Given the description of an element on the screen output the (x, y) to click on. 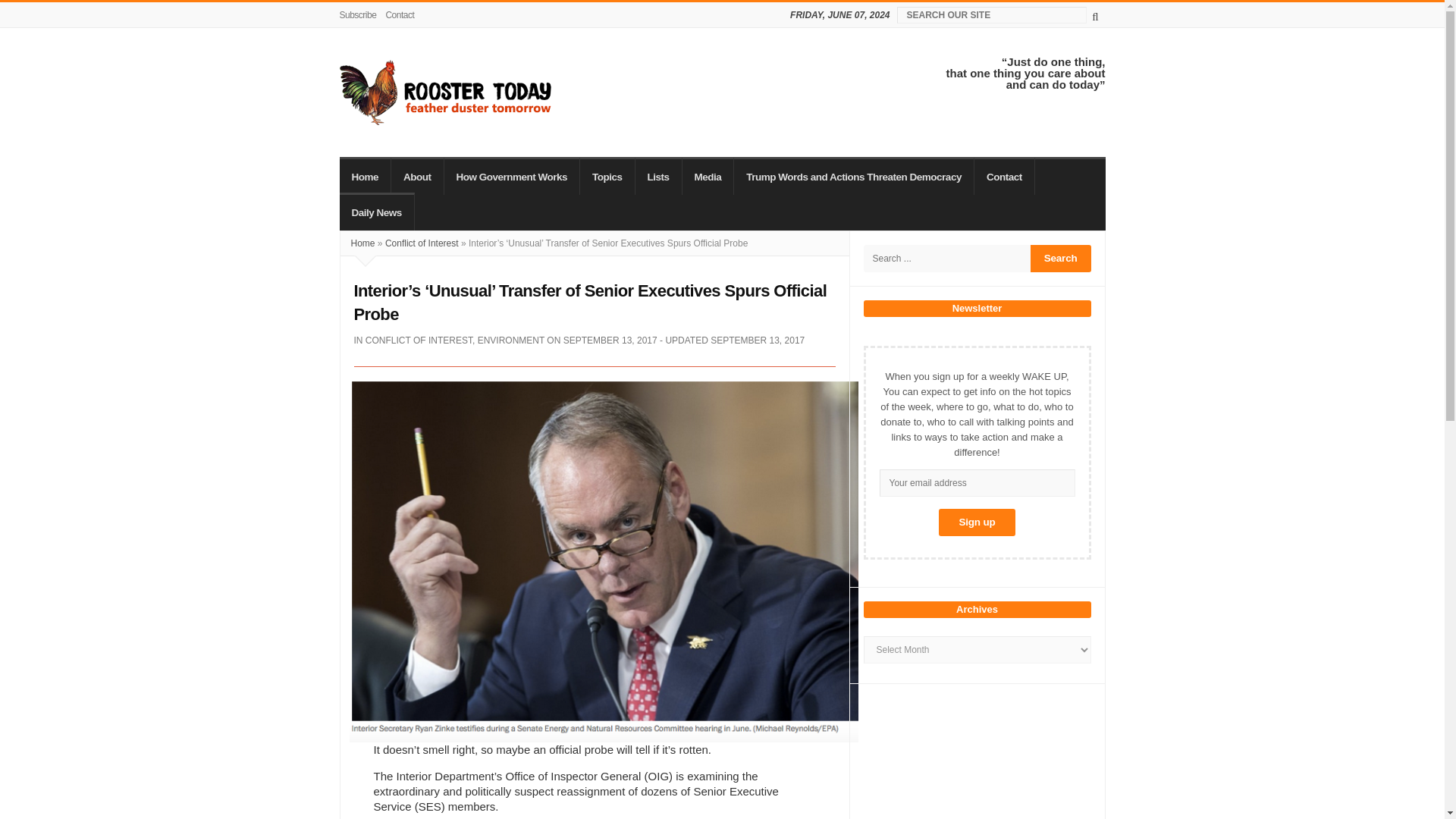
Contact (399, 14)
Home (365, 175)
Topics (606, 175)
Subscribe (360, 14)
Sign up (976, 522)
Search (1060, 257)
Rooster Today (445, 92)
Search for: (946, 257)
Search (1060, 257)
How Government Works (512, 175)
